Given the description of an element on the screen output the (x, y) to click on. 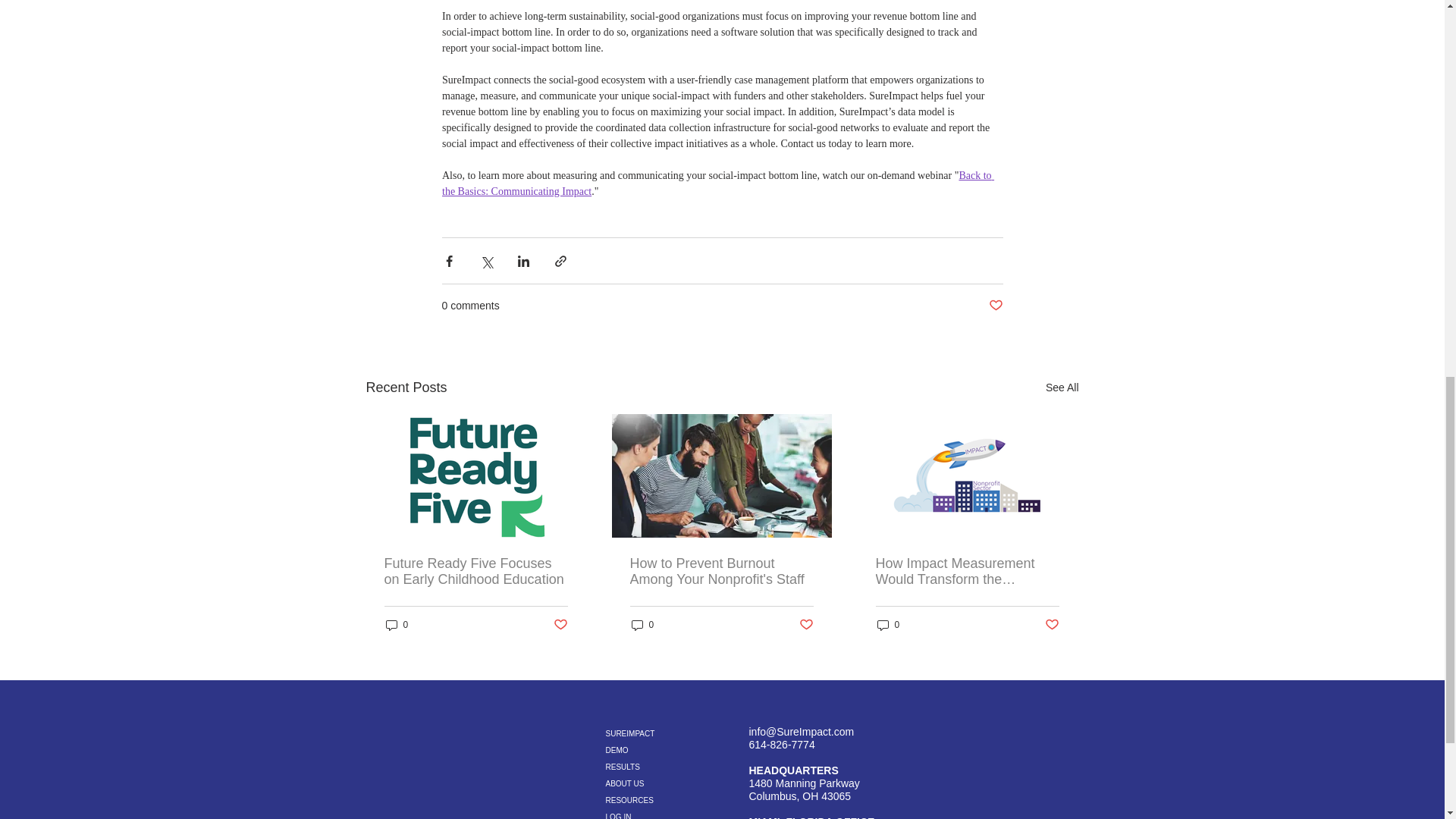
0 (396, 625)
Post not marked as liked (560, 625)
How to Prevent Burnout Among Your Nonprofit's Staff (720, 572)
Post not marked as liked (995, 305)
Future Ready Five Focuses on Early Childhood Education (475, 572)
Back to the Basics: Communicating Impact (716, 183)
Embedded Content (984, 755)
Post not marked as liked (806, 625)
See All (1061, 387)
0 (641, 625)
